Given the description of an element on the screen output the (x, y) to click on. 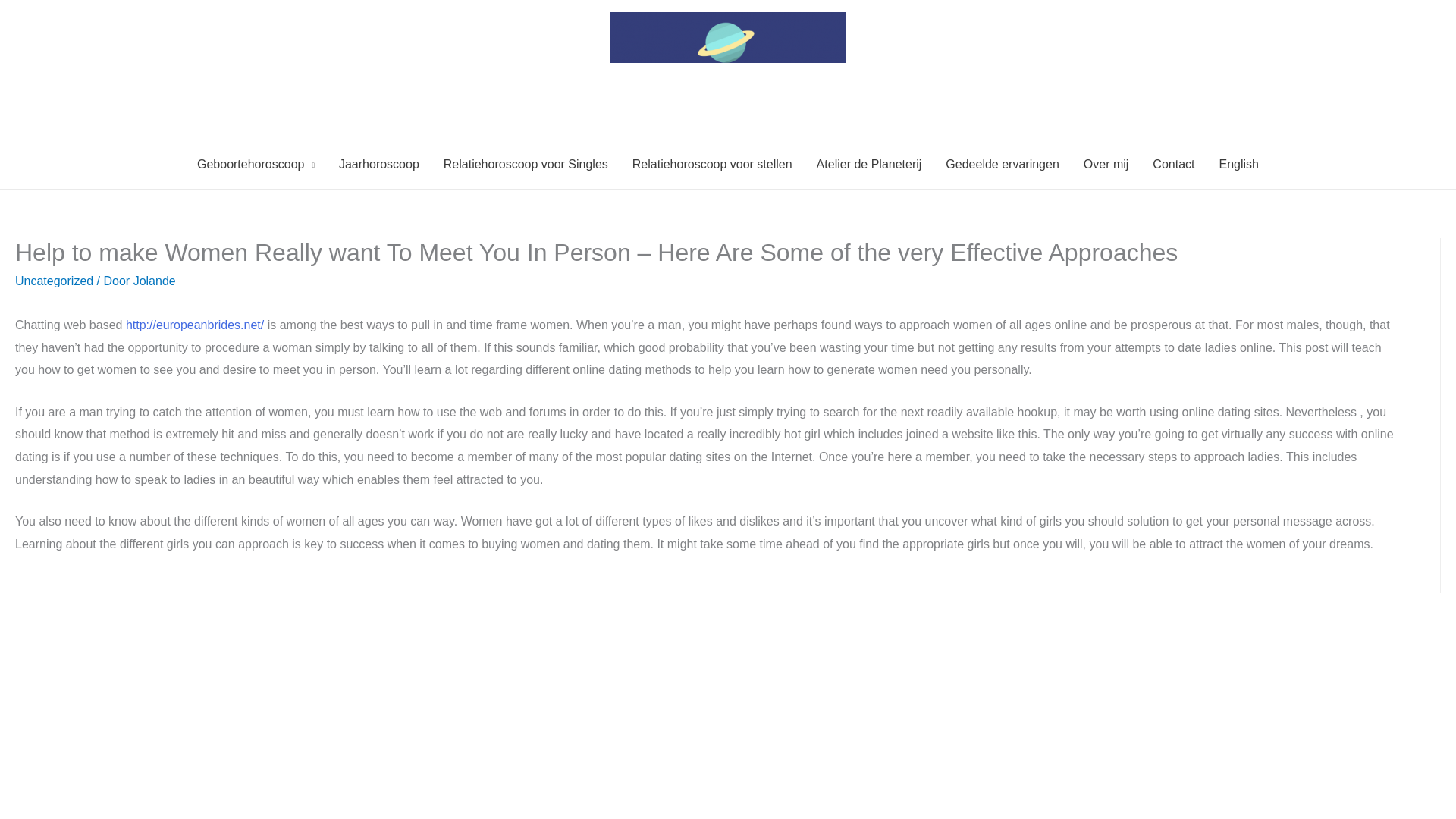
Geboortehoroscoop (255, 164)
Alle posts weergeven van Jolande (154, 280)
Atelier de Planeterij (869, 164)
Contact (1173, 164)
Gedeelde ervaringen (1001, 164)
Jolande (154, 280)
Jaarhoroscoop (378, 164)
Uncategorized (53, 280)
Relatiehoroscoop voor Singles (525, 164)
English (1239, 164)
Relatiehoroscoop voor stellen (712, 164)
Over mij (1106, 164)
